Given the description of an element on the screen output the (x, y) to click on. 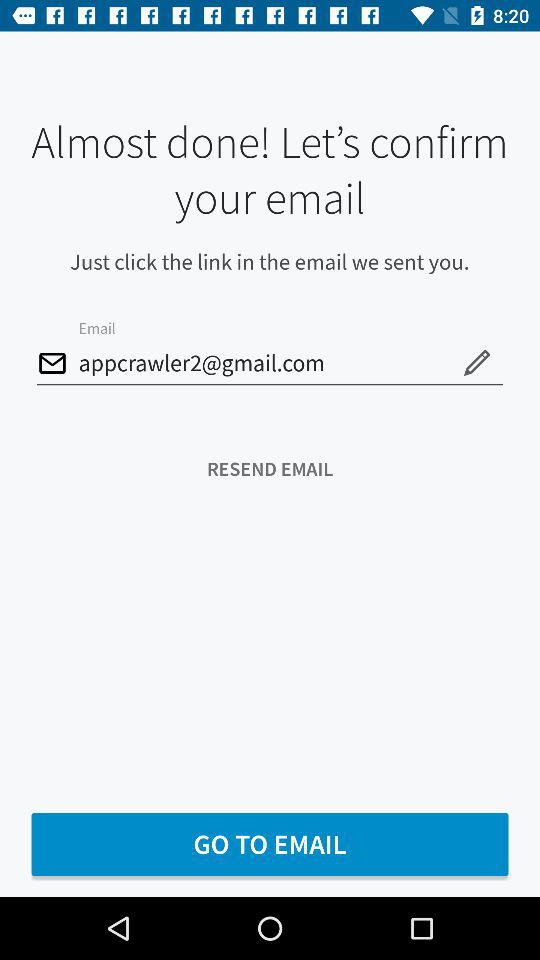
swipe to appcrawler2@gmail.com (269, 363)
